Given the description of an element on the screen output the (x, y) to click on. 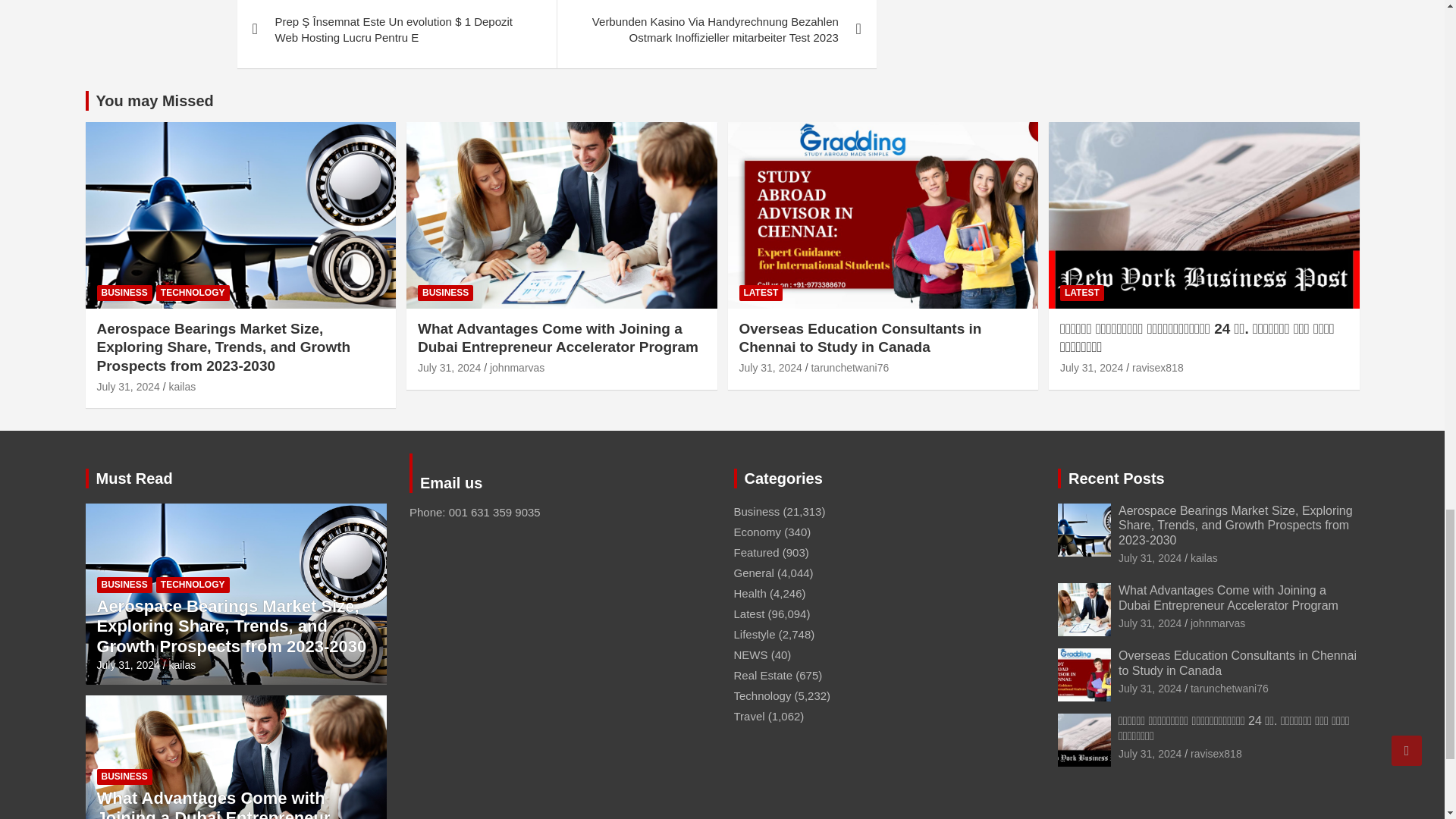
Overseas Education Consultants in Chennai to Study in Canada (770, 367)
